Given the description of an element on the screen output the (x, y) to click on. 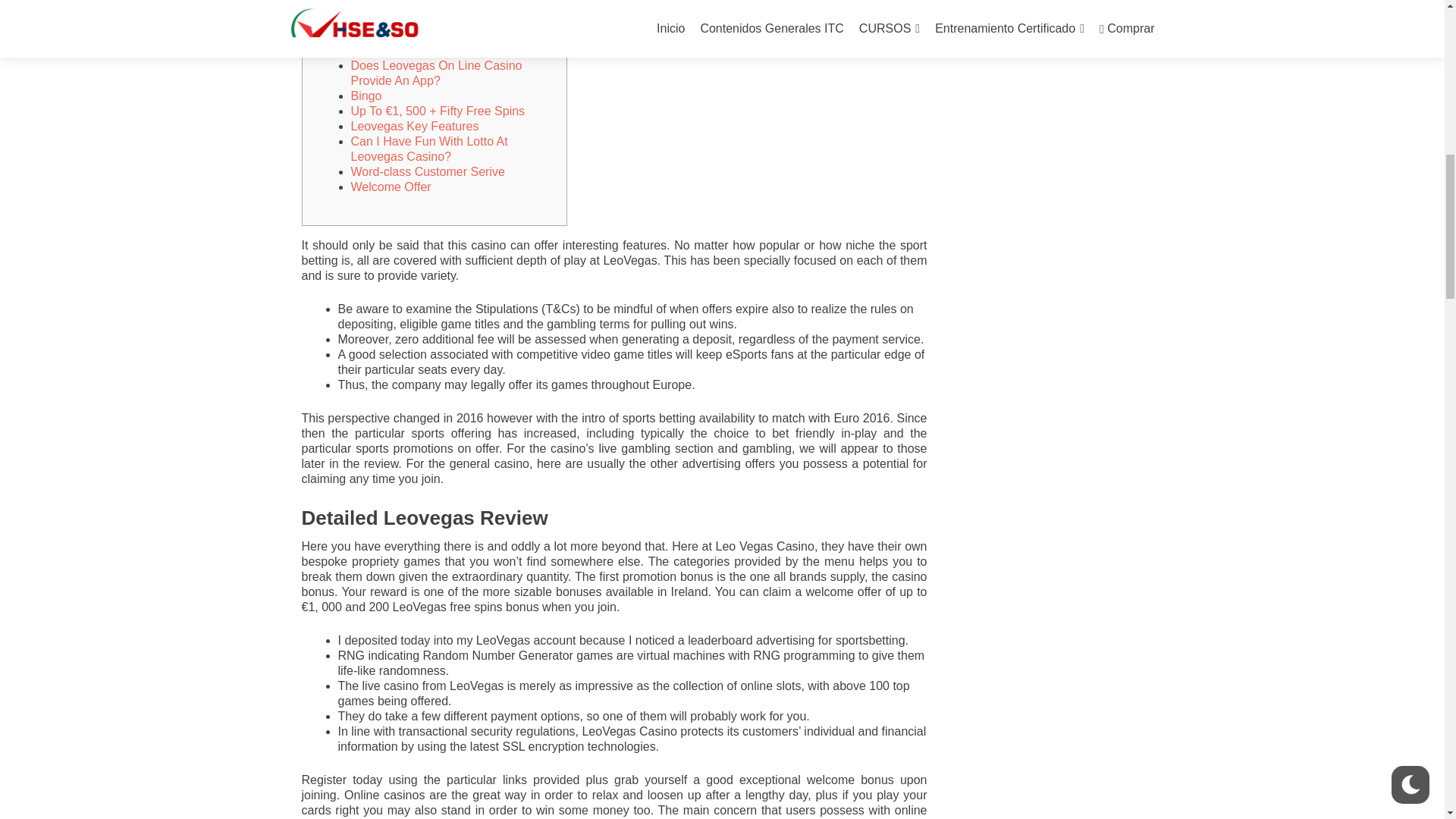
Watch: Leo Vegas Casino Video Review (437, 5)
Leovegas Vip Programme (420, 50)
What Would Be The Payment Times At Leovegas Casino? (447, 27)
